Given the description of an element on the screen output the (x, y) to click on. 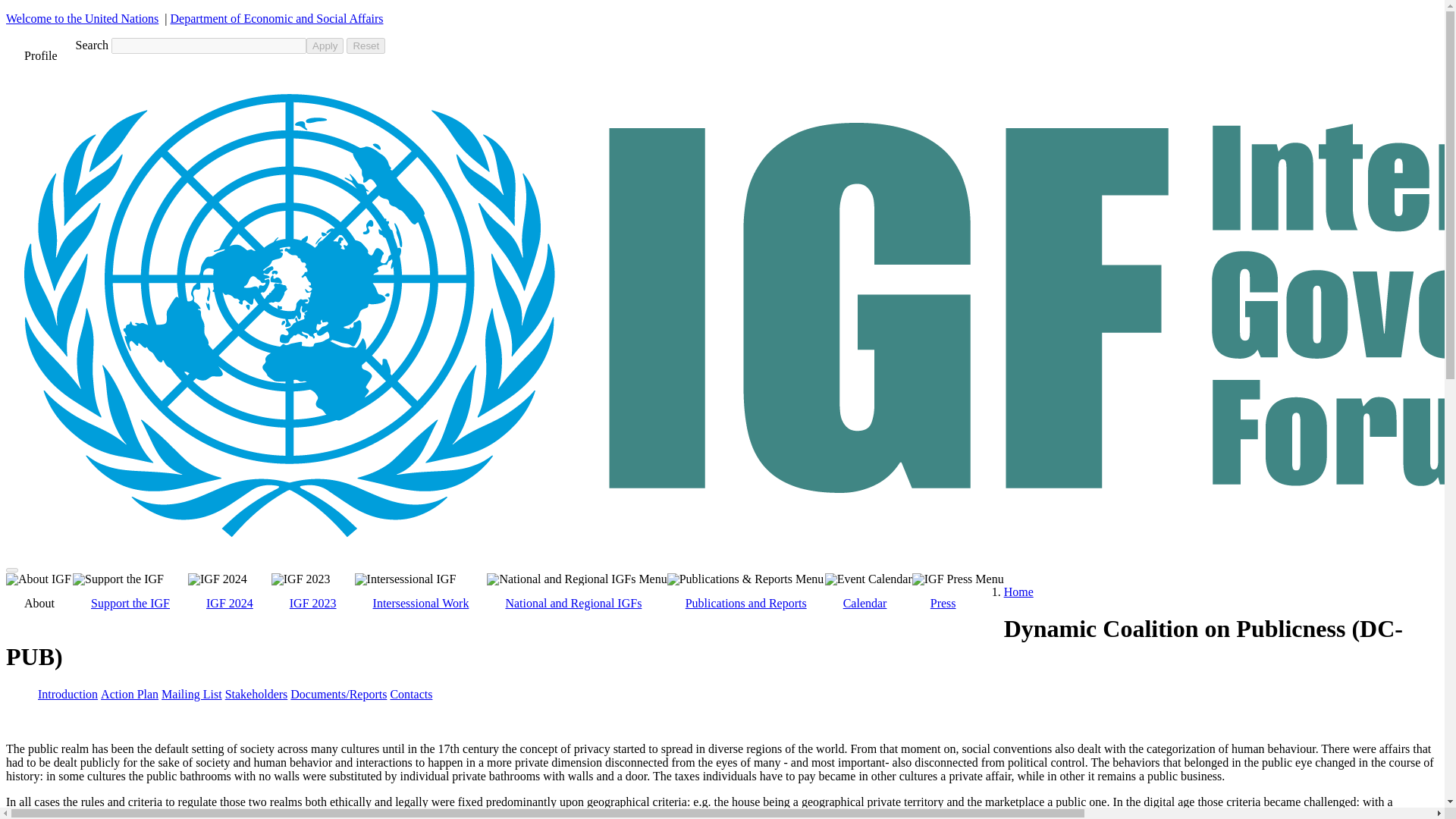
Welcome to the United Nations (81, 18)
Apply (324, 45)
Apply (324, 45)
Department of Economic and Social Affairs (277, 18)
Reset (365, 45)
Reset (365, 45)
